Given the description of an element on the screen output the (x, y) to click on. 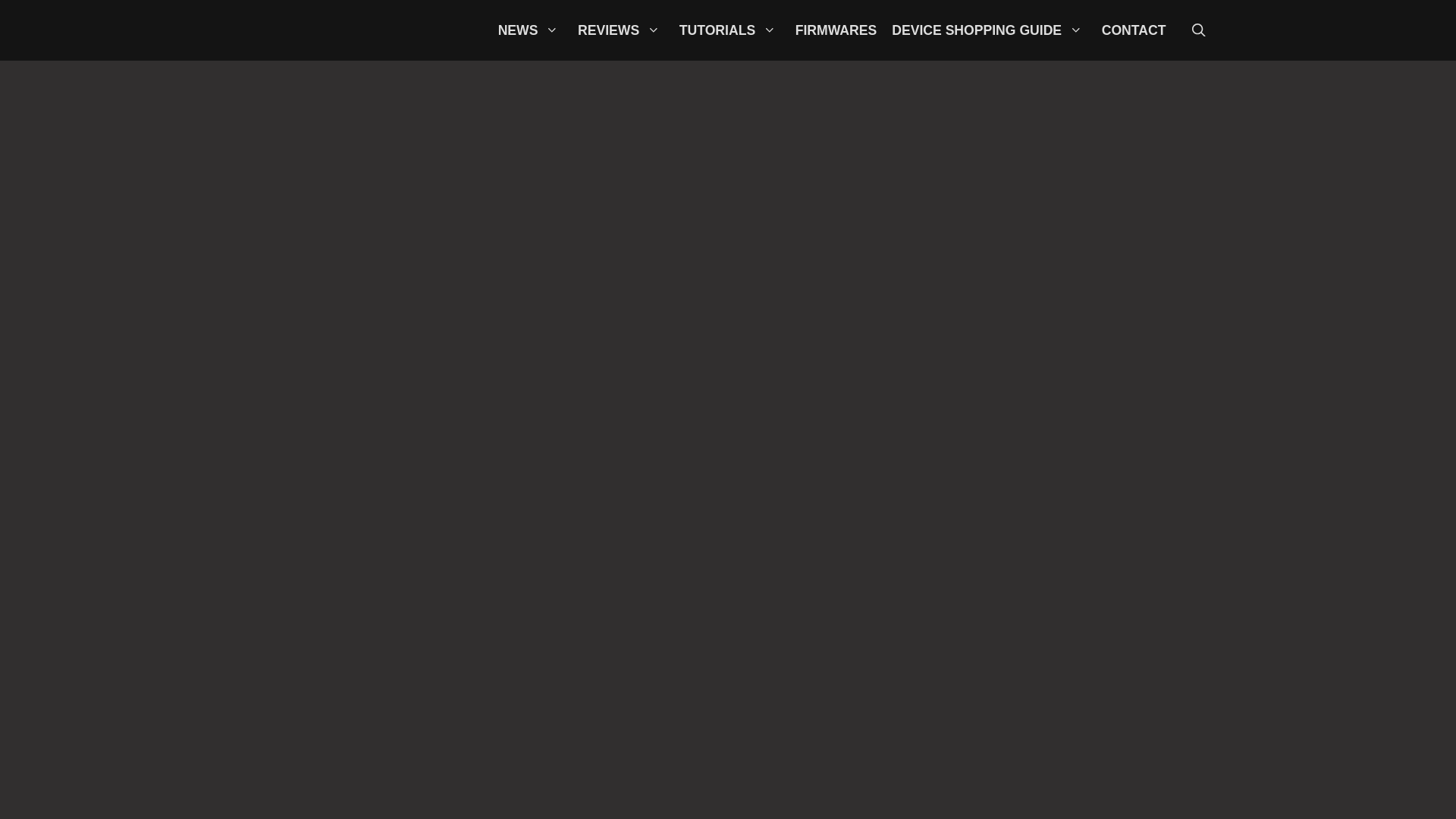
AndroidPCtv (348, 30)
